Given the description of an element on the screen output the (x, y) to click on. 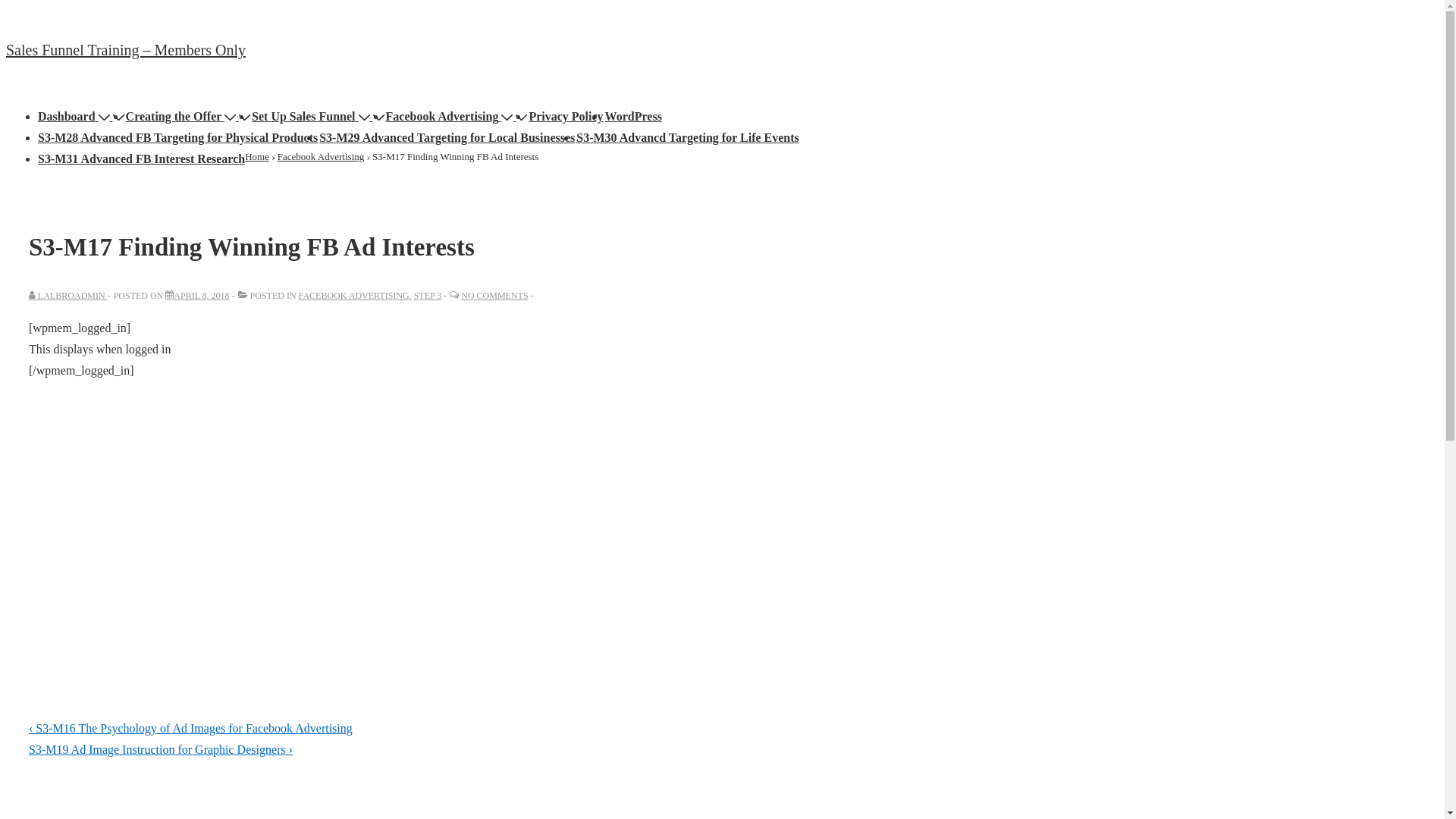
STEP 3 Element type: text (428, 295)
S3-M29 Advanced Targeting for Local Businesses Element type: text (446, 137)
APRIL 8, 2018 Element type: text (201, 295)
Creating the Offer Element type: text (181, 115)
Dashboard Element type: text (74, 115)
WordPress Element type: text (633, 115)
NO COMMENTS Element type: text (494, 295)
FACEBOOK ADVERTISING Element type: text (353, 295)
Privacy Policy Element type: text (565, 115)
S3-M30 Advancd Targeting for Life Events Element type: text (687, 137)
Facebook Advertising Element type: text (320, 156)
S3-M28 Advanced FB Targeting for Physical Products Element type: text (177, 137)
Home Element type: text (256, 156)
Set Up Sales Funnel Element type: text (311, 115)
LALBROADMIN Element type: text (67, 295)
S3-M31 Advanced FB Interest Research Element type: text (140, 158)
Facebook Advertising Element type: text (450, 115)
